Given the description of an element on the screen output the (x, y) to click on. 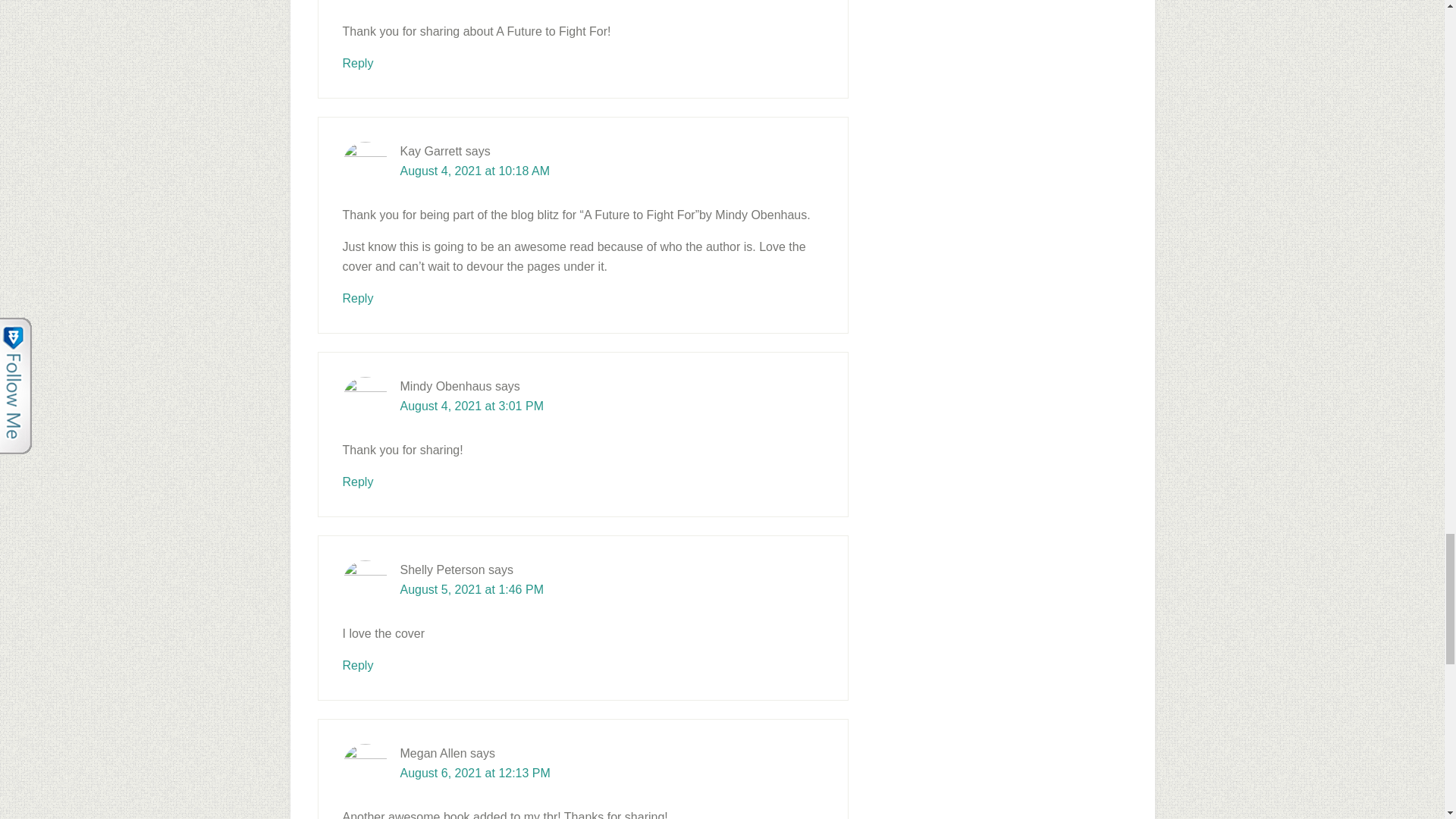
Reply (358, 297)
August 5, 2021 at 1:46 PM (471, 589)
August 6, 2021 at 12:13 PM (475, 772)
Reply (358, 62)
Reply (358, 481)
August 4, 2021 at 3:01 PM (471, 405)
August 4, 2021 at 10:18 AM (475, 170)
Reply (358, 665)
